Given the description of an element on the screen output the (x, y) to click on. 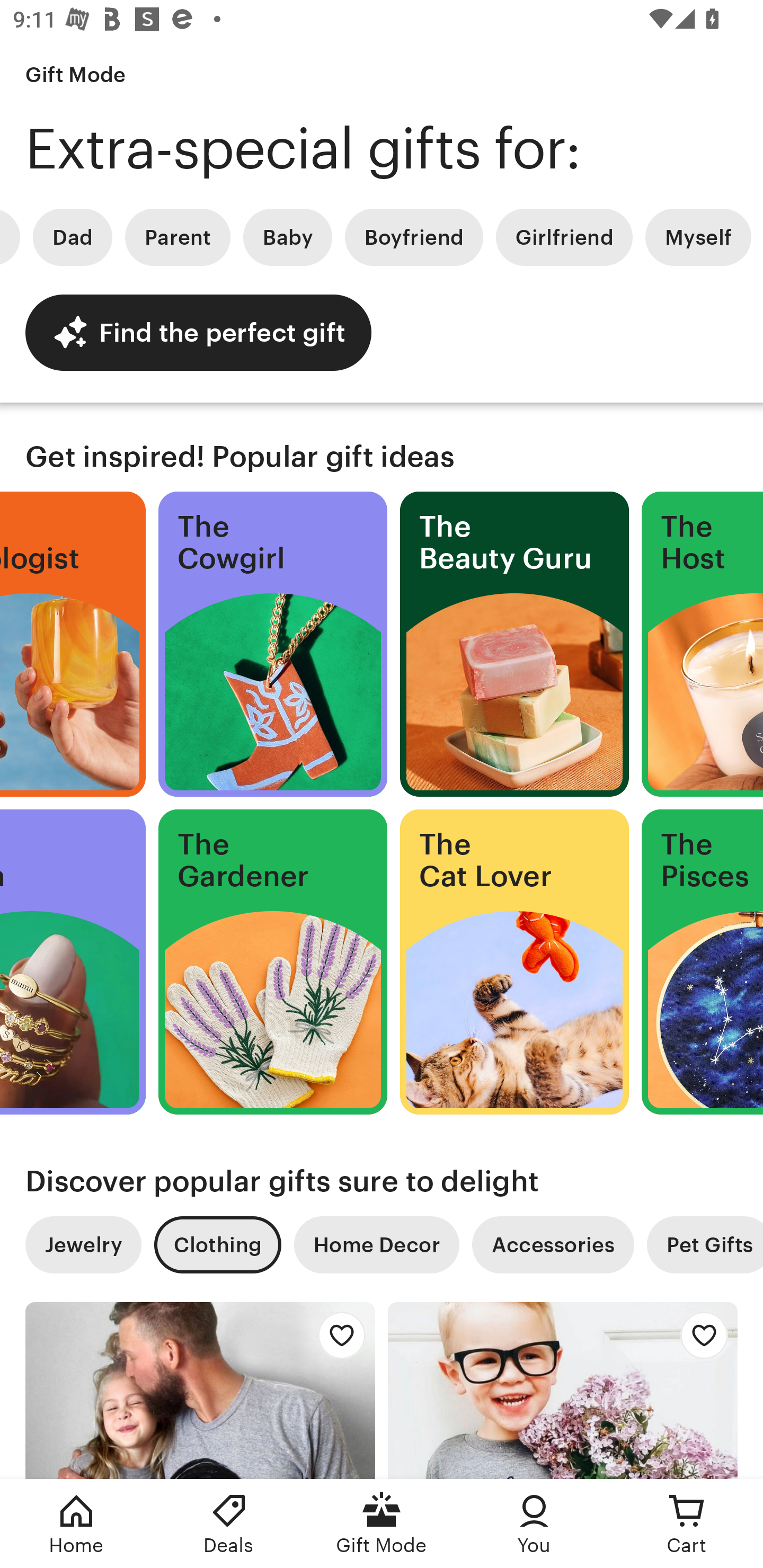
Dad (72, 237)
Parent (177, 237)
Baby (287, 237)
Boyfriend (413, 237)
Girlfriend (563, 237)
Myself (698, 237)
Find the perfect gift (198, 332)
Mixologist (72, 644)
The Cowgirl (272, 644)
The Beauty Guru (513, 644)
The Host (702, 644)
Mom (72, 961)
The Gardener (272, 961)
The Cat Lover (513, 961)
The Pisces (702, 961)
Jewelry (83, 1244)
Clothing (217, 1244)
Home Decor (376, 1244)
Accessories (553, 1244)
Pet Gifts (705, 1244)
Home (76, 1523)
Deals (228, 1523)
You (533, 1523)
Cart (686, 1523)
